Given the description of an element on the screen output the (x, y) to click on. 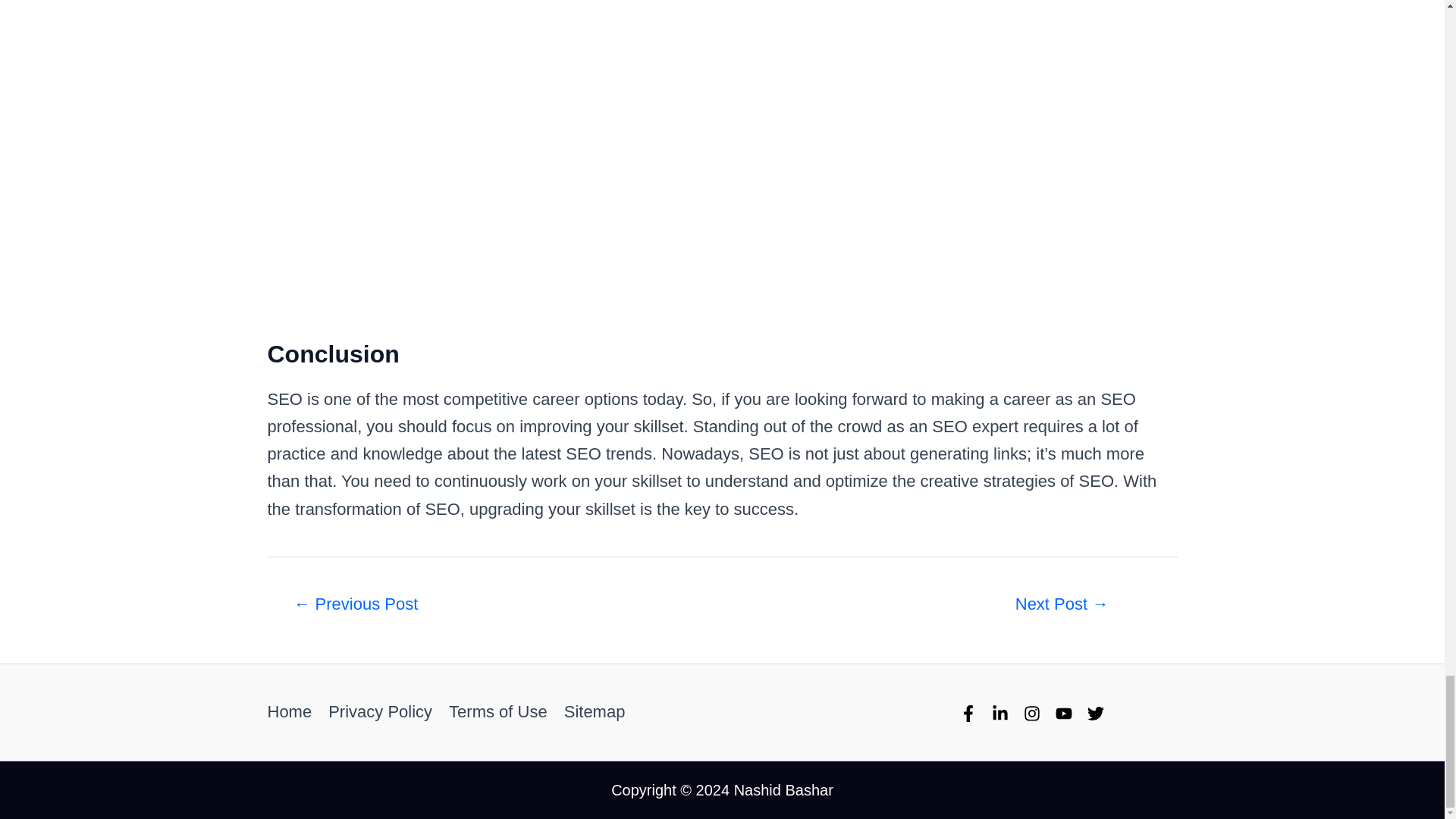
Definitive Guide on National SEO (1060, 604)
Tips To Properly Leverage Your Amazon SEO Campaign (354, 604)
